Given the description of an element on the screen output the (x, y) to click on. 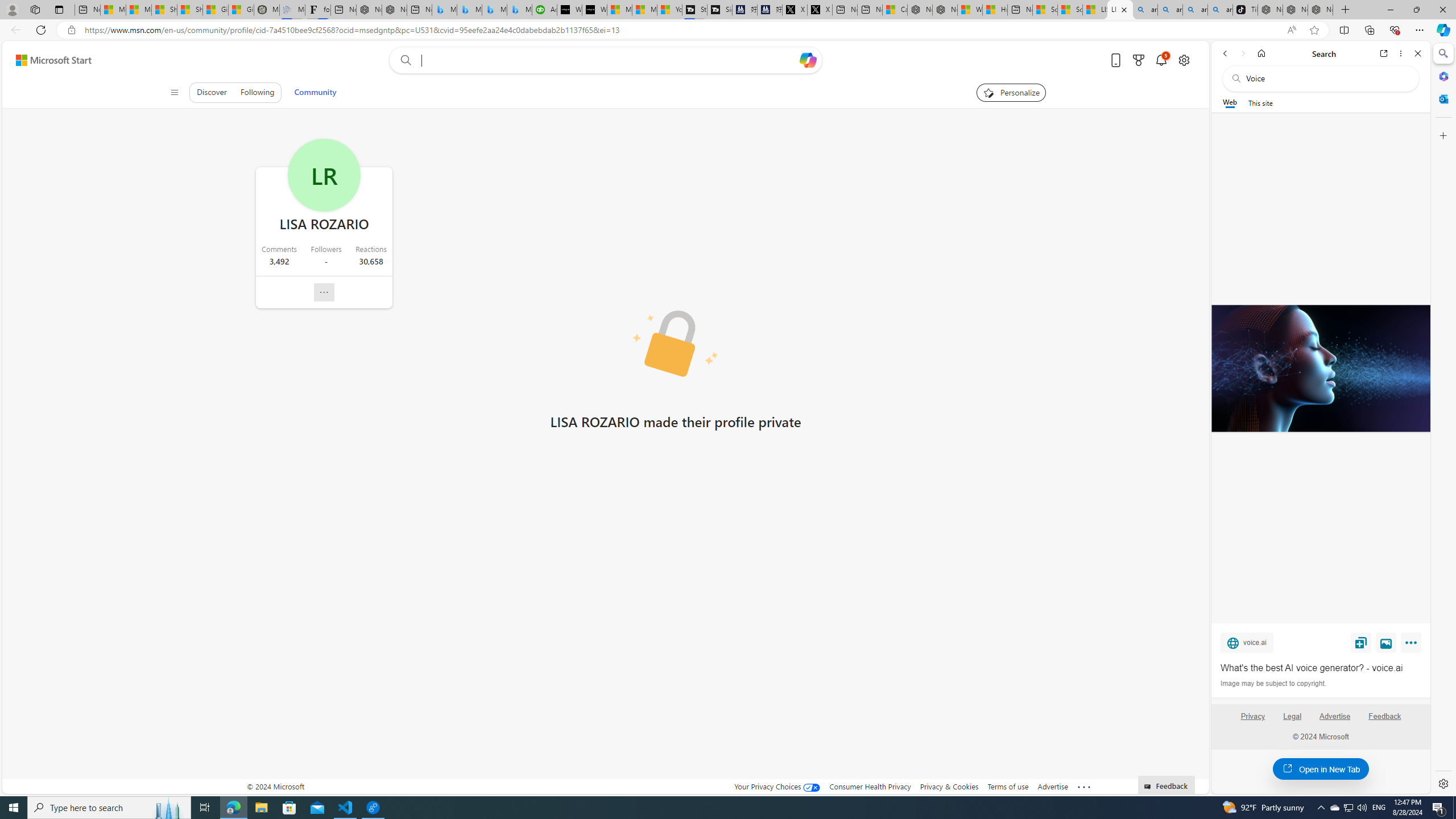
amazon - Search (1170, 9)
Terms of use (1008, 785)
Legal (1292, 720)
Microsoft rewards (1138, 60)
Community (314, 92)
What's the best AI voice generator? - voice.ai (1320, 667)
Open link in new tab (1383, 53)
Privacy & Cookies (949, 786)
Personalize your feed" (1010, 92)
voice.ai (1247, 642)
